Given the description of an element on the screen output the (x, y) to click on. 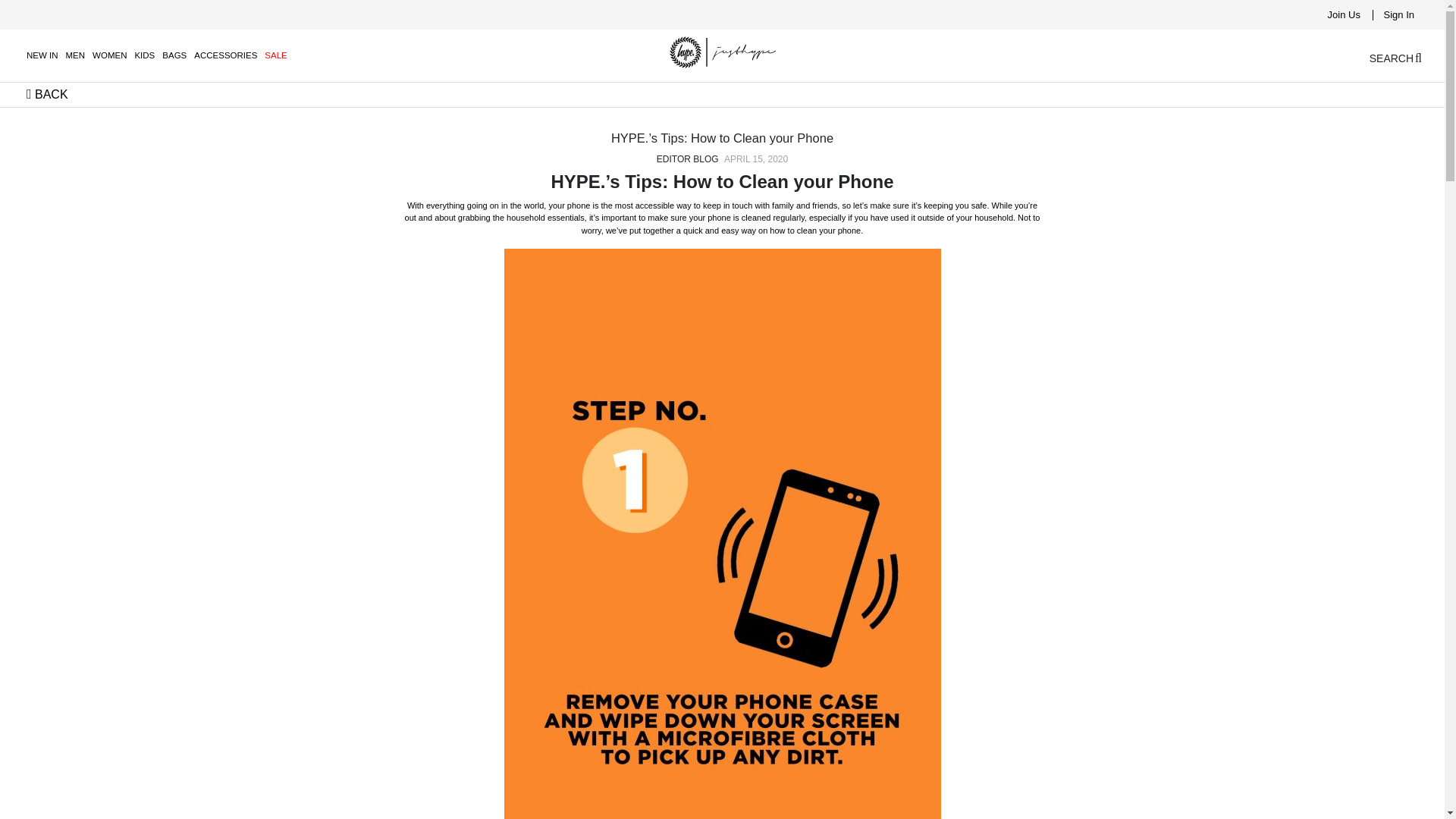
Sign In (1398, 14)
NEW IN (42, 55)
Join Us (1343, 14)
